Given the description of an element on the screen output the (x, y) to click on. 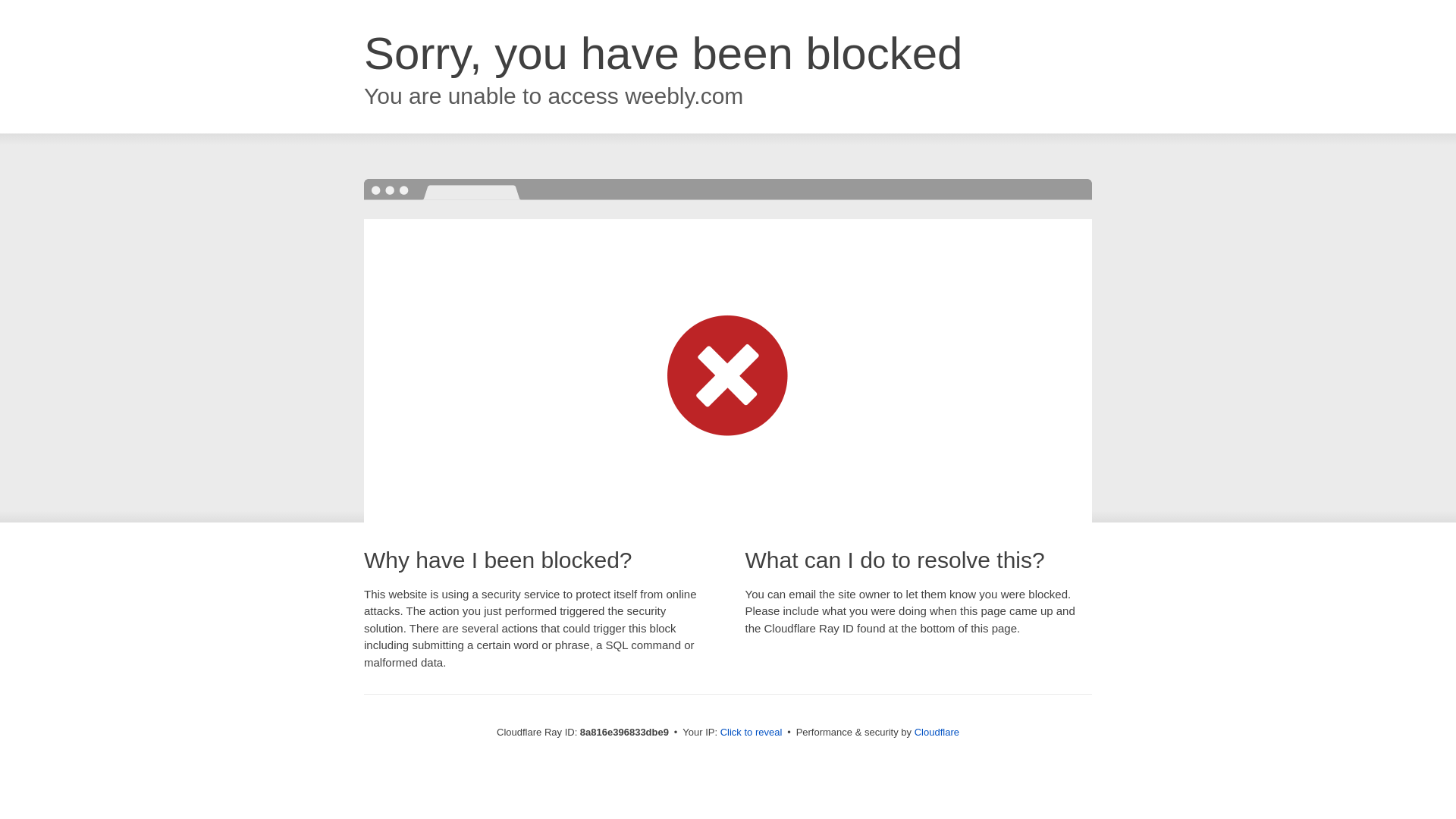
Click to reveal (751, 732)
Cloudflare (936, 731)
